Given the description of an element on the screen output the (x, y) to click on. 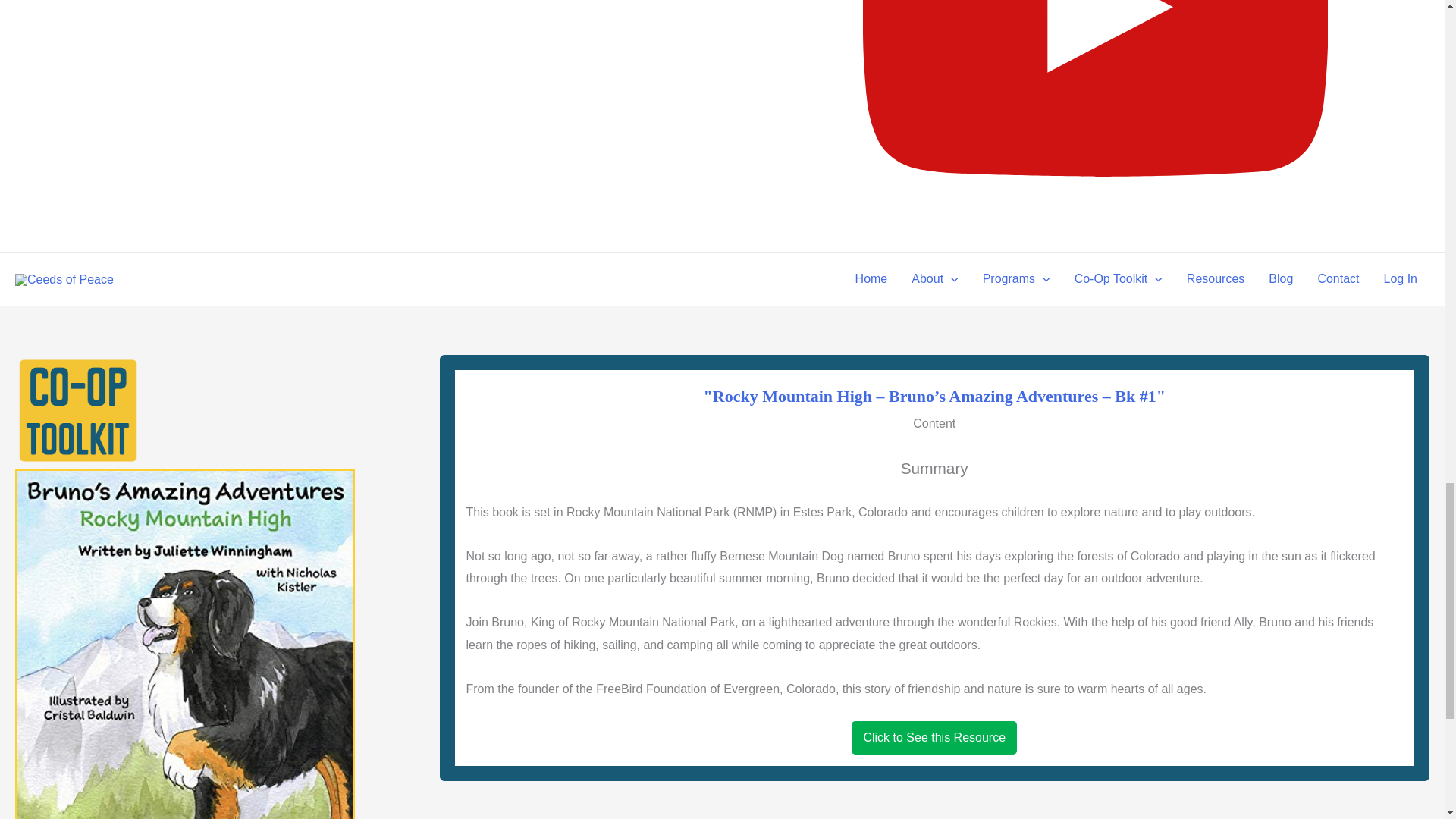
About (934, 278)
Co-Op Toolkit (1118, 278)
Home (871, 278)
Programs (1016, 278)
